Given the description of an element on the screen output the (x, y) to click on. 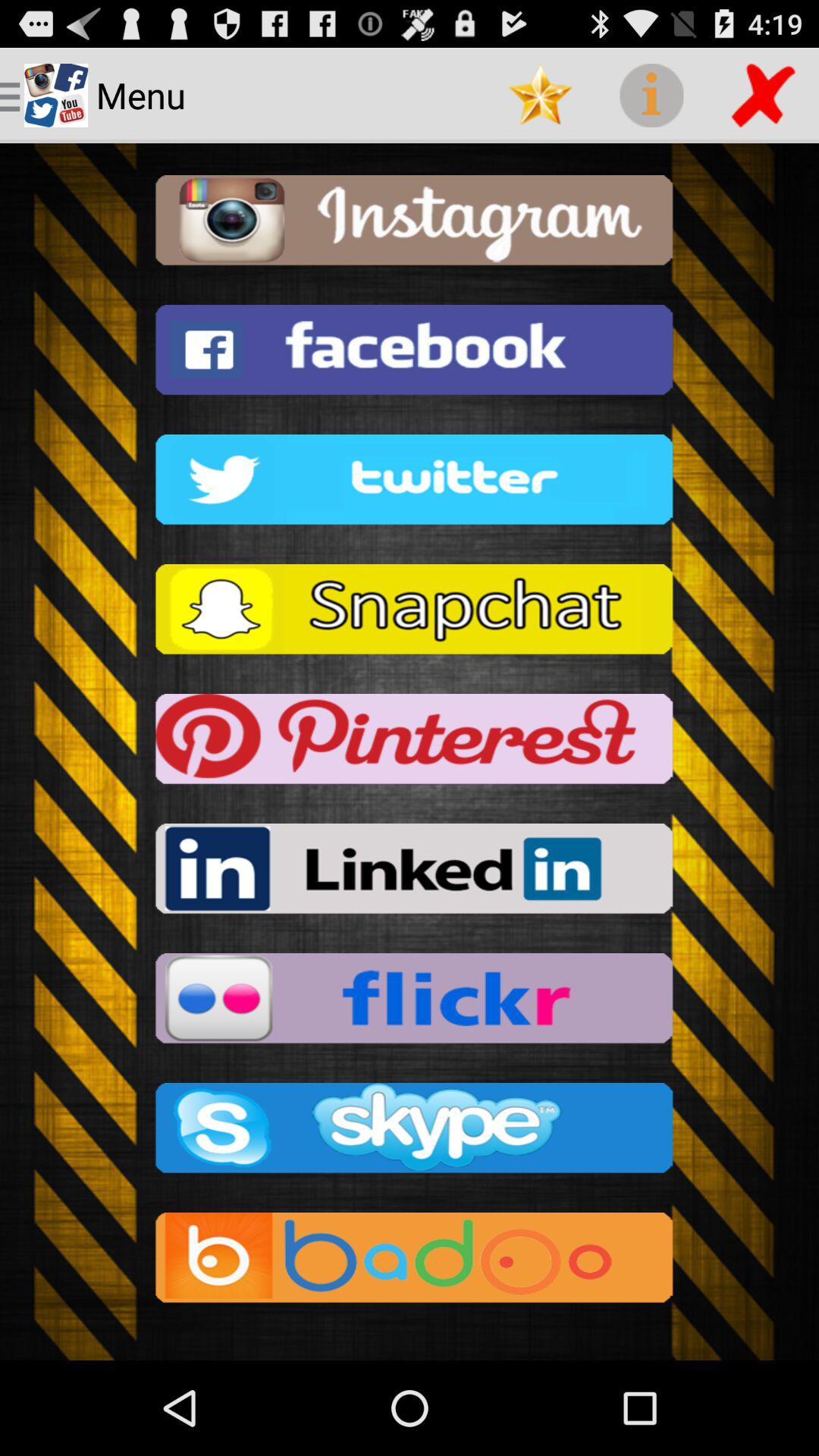
go to social media (409, 1262)
